Given the description of an element on the screen output the (x, y) to click on. 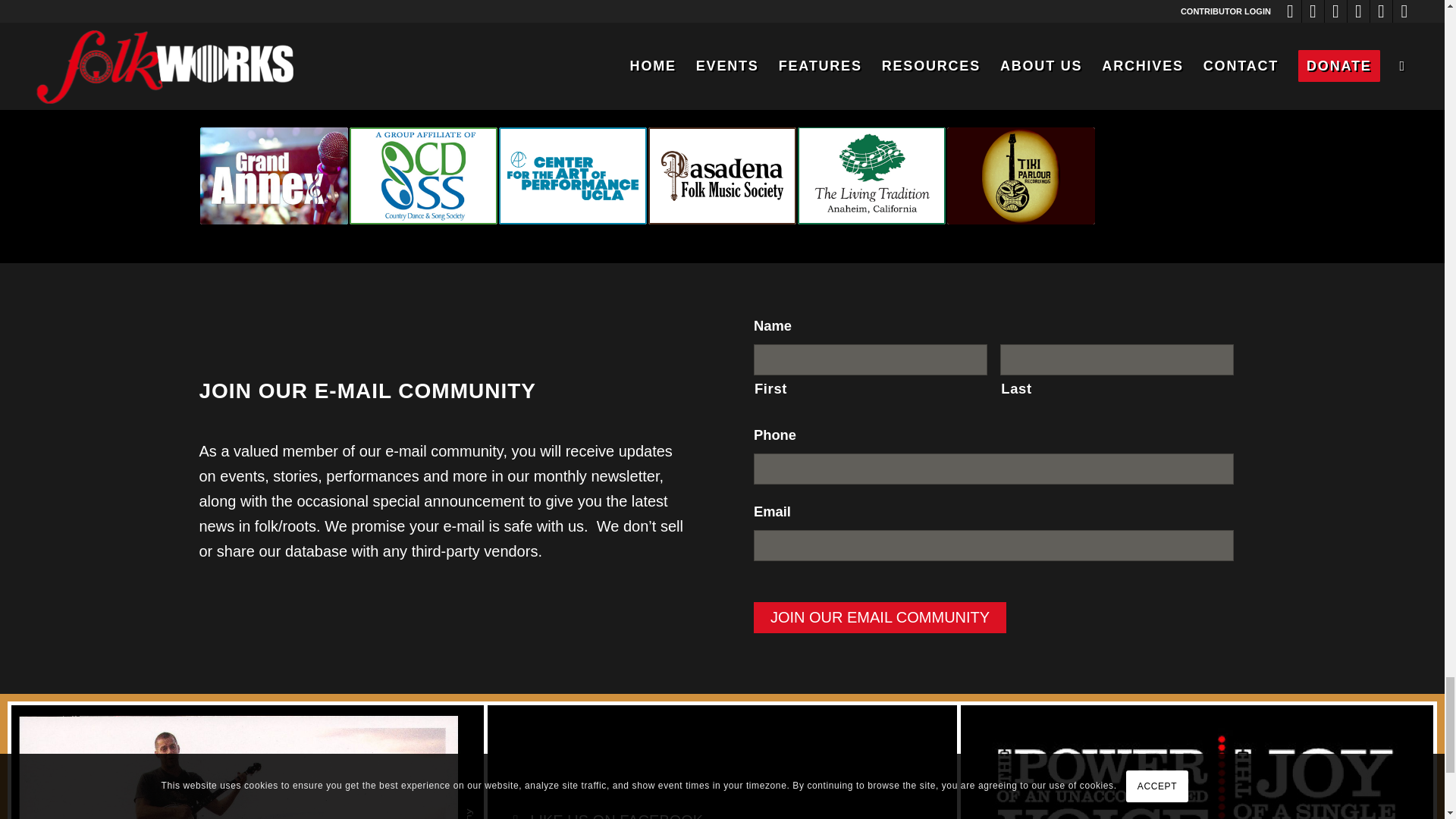
JOIN OUR EMAIL COMMUNITY (880, 617)
